Given the description of an element on the screen output the (x, y) to click on. 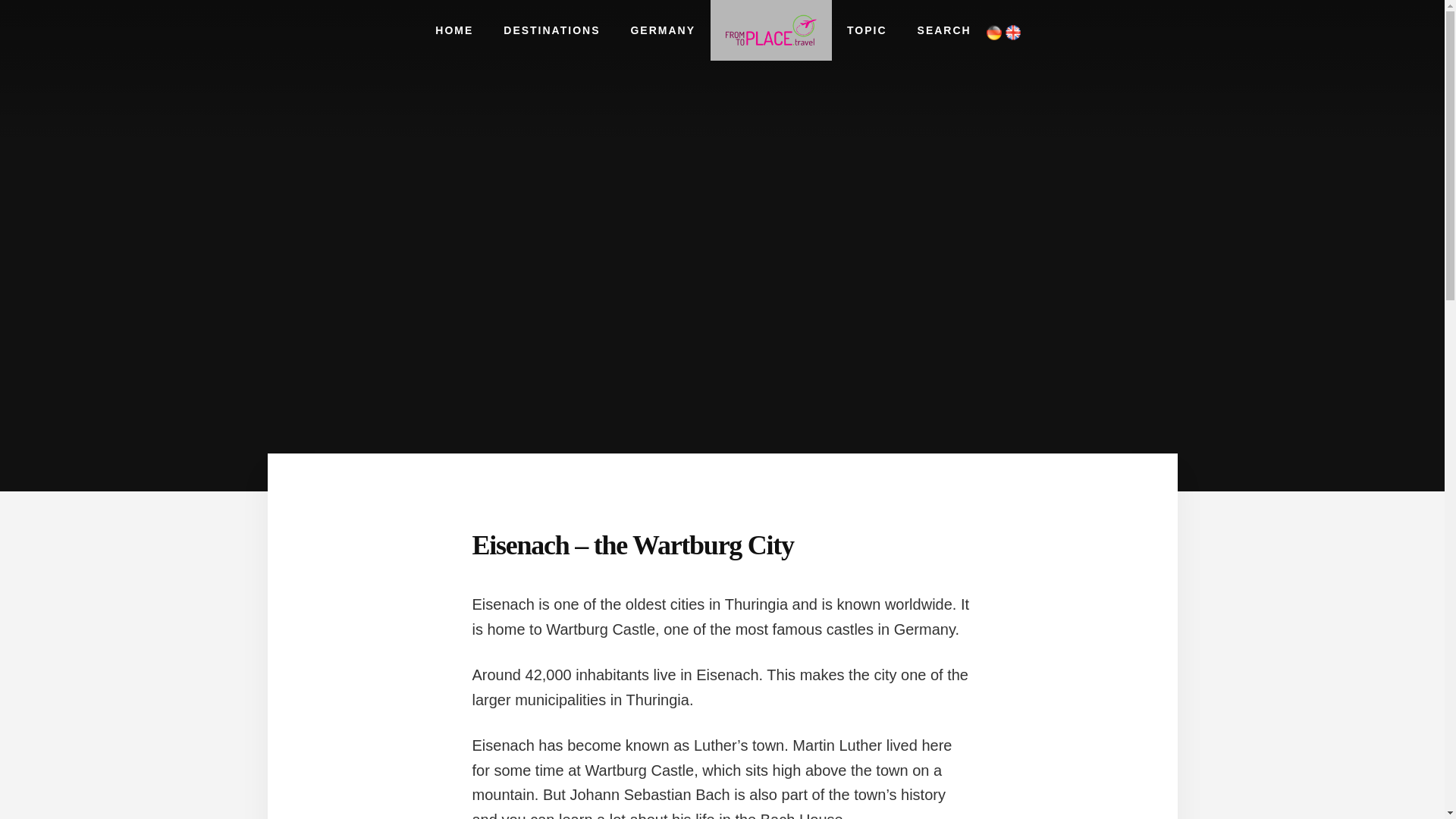
TOPIC (866, 30)
SEARCH (944, 30)
DESTINATIONS (550, 30)
HOME (453, 30)
GERMANY (662, 30)
